Given the description of an element on the screen output the (x, y) to click on. 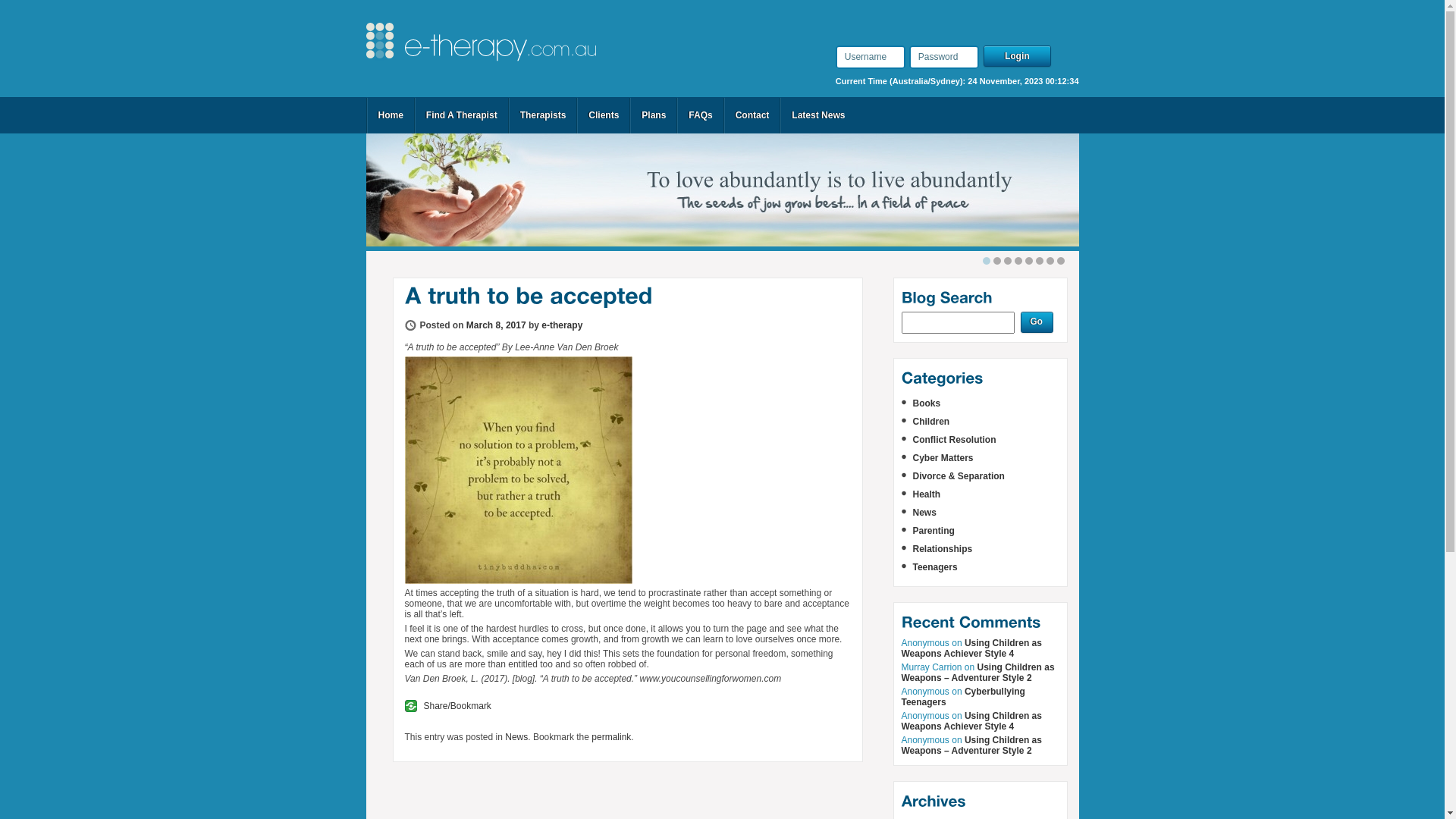
permalink Element type: text (610, 736)
Share/Bookmark Element type: text (447, 705)
Find A Therapist Element type: text (461, 115)
Conflict Resolution Element type: text (954, 439)
2 Element type: text (1007, 260)
Using Children as Weapons Achiever Style 4 Element type: text (970, 647)
e-therapy Element type: text (561, 325)
Relationships Element type: text (942, 548)
Parenting Element type: text (933, 530)
Cyber Matters Element type: text (943, 457)
Children Element type: text (931, 421)
Home Element type: text (390, 115)
March 8, 2017 Element type: text (496, 325)
Health Element type: text (927, 494)
Contact Element type: text (752, 115)
Growing tree Element type: hover (721, 189)
FAQs Element type: text (699, 115)
Login Element type: text (1018, 56)
Go Element type: text (1035, 322)
0 Element type: text (986, 260)
6 Element type: text (1050, 260)
Books Element type: text (927, 403)
1 Element type: text (997, 260)
News Element type: text (924, 512)
Therapists Element type: text (543, 115)
7 Element type: text (1060, 260)
Teenagers Element type: text (935, 566)
Latest News Element type: text (818, 115)
Divorce & Separation Element type: text (958, 475)
Clients Element type: text (603, 115)
News Element type: text (516, 736)
4 Element type: text (1028, 260)
5 Element type: text (1039, 260)
005 Element type: hover (518, 469)
Plans Element type: text (653, 115)
Cyberbullying Teenagers Element type: text (962, 696)
3 Element type: text (1018, 260)
Using Children as Weapons Achiever Style 4 Element type: text (970, 720)
